Given the description of an element on the screen output the (x, y) to click on. 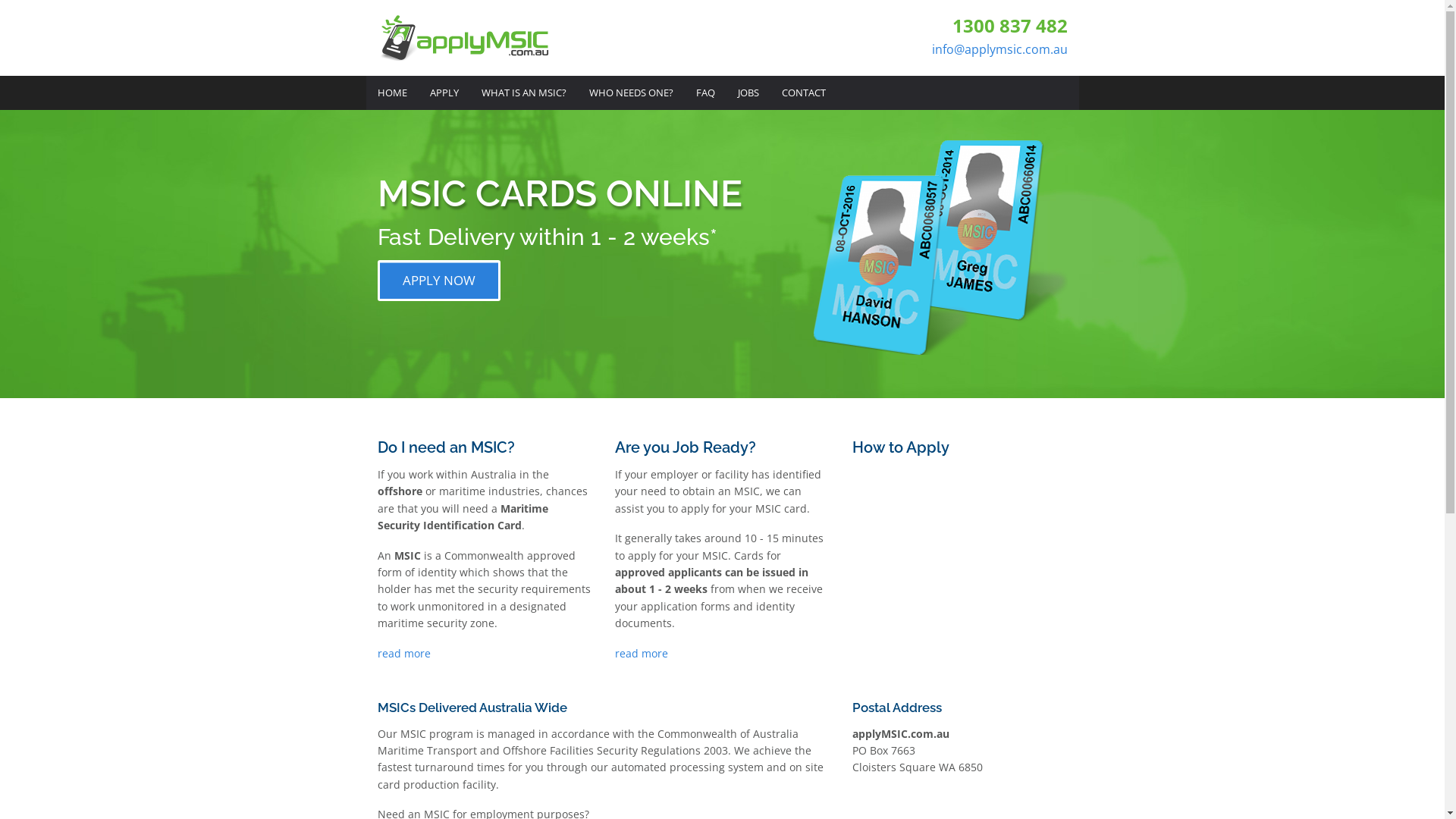
WHAT IS AN MSIC? Element type: text (523, 92)
APPLY Element type: text (444, 92)
APPLY NOW Element type: text (438, 280)
CONTACT Element type: text (803, 92)
WHO NEEDS ONE? Element type: text (630, 92)
info@applymsic.com.au Element type: text (998, 48)
JOBS Element type: text (748, 92)
read more Element type: text (484, 653)
read more Element type: text (722, 653)
HOME Element type: text (391, 92)
FAQ Element type: text (704, 92)
